Given the description of an element on the screen output the (x, y) to click on. 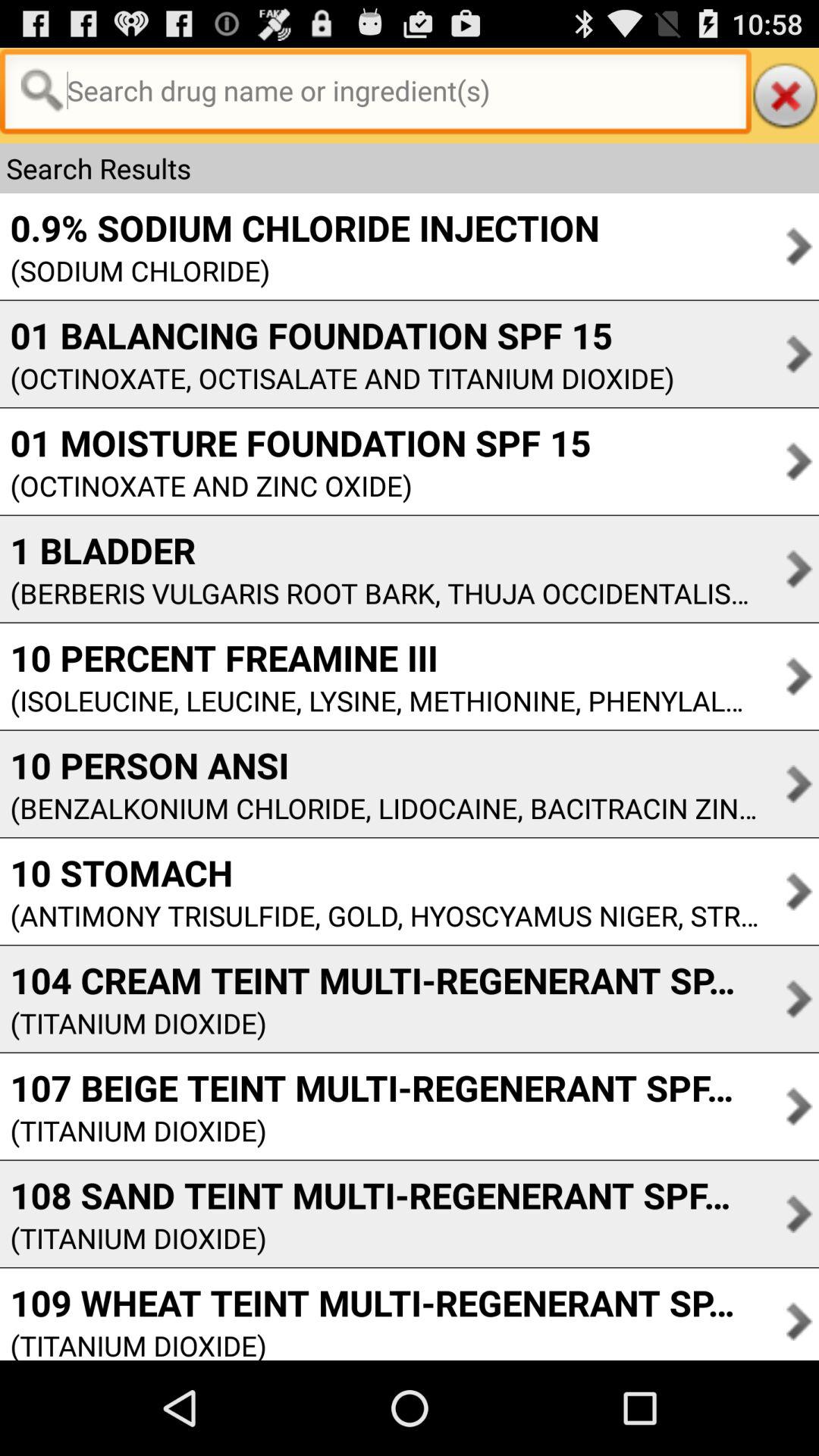
launch 10 stomach item (379, 872)
